Given the description of an element on the screen output the (x, y) to click on. 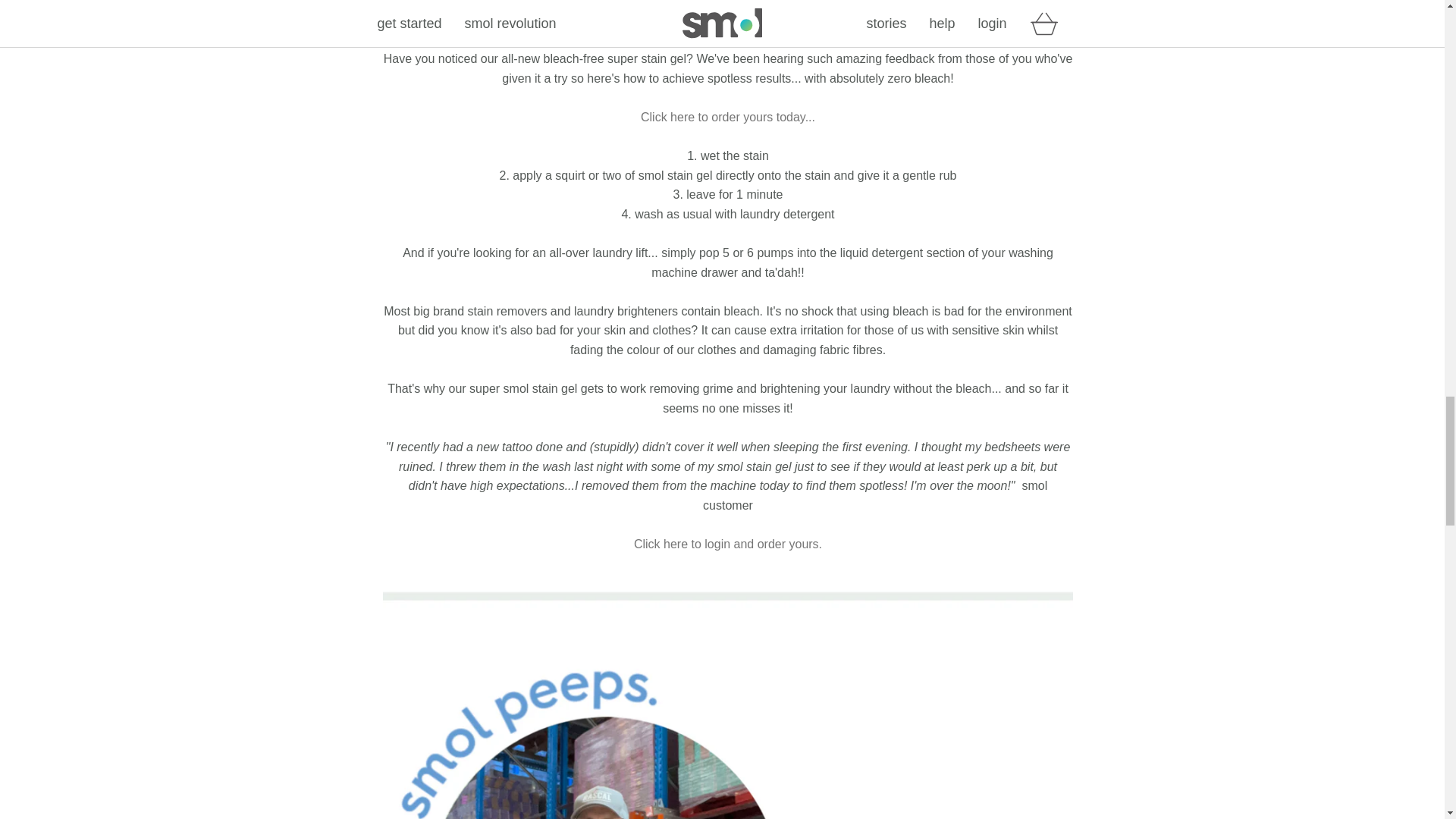
buy stain gel (727, 116)
login to order stain gel (727, 543)
